Given the description of an element on the screen output the (x, y) to click on. 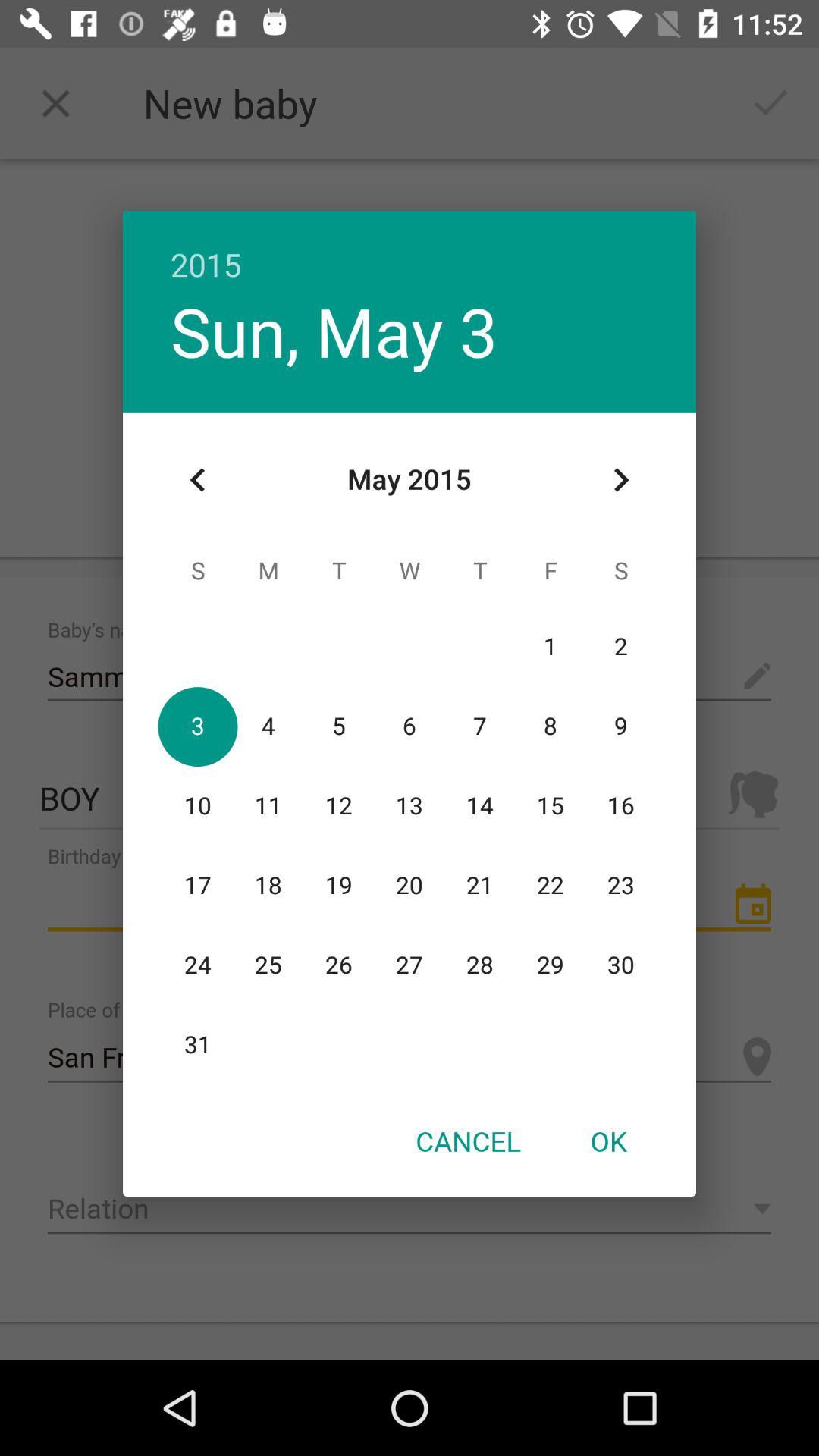
click the item at the top right corner (620, 479)
